Given the description of an element on the screen output the (x, y) to click on. 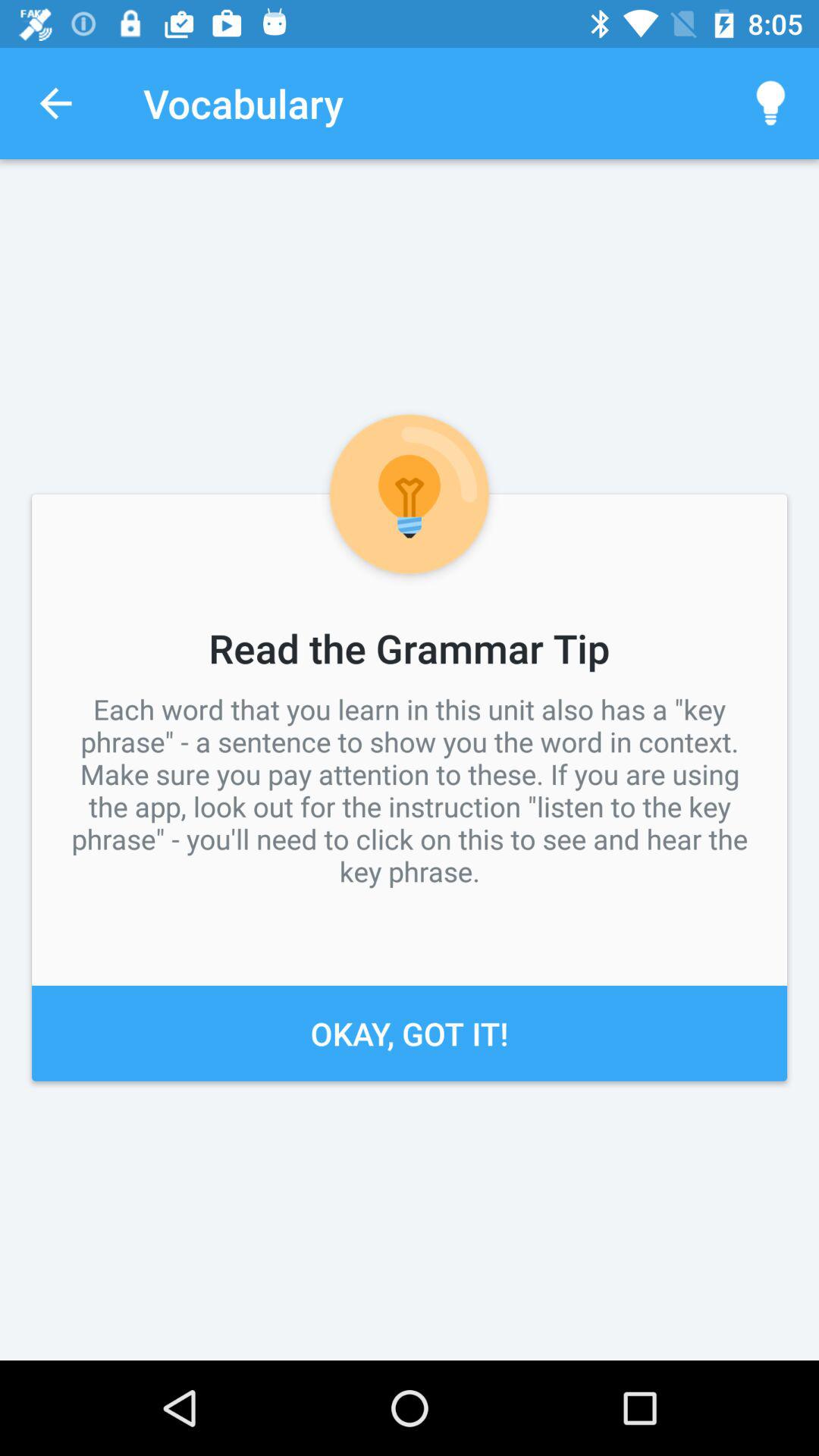
jump until okay, got it! (409, 1033)
